Given the description of an element on the screen output the (x, y) to click on. 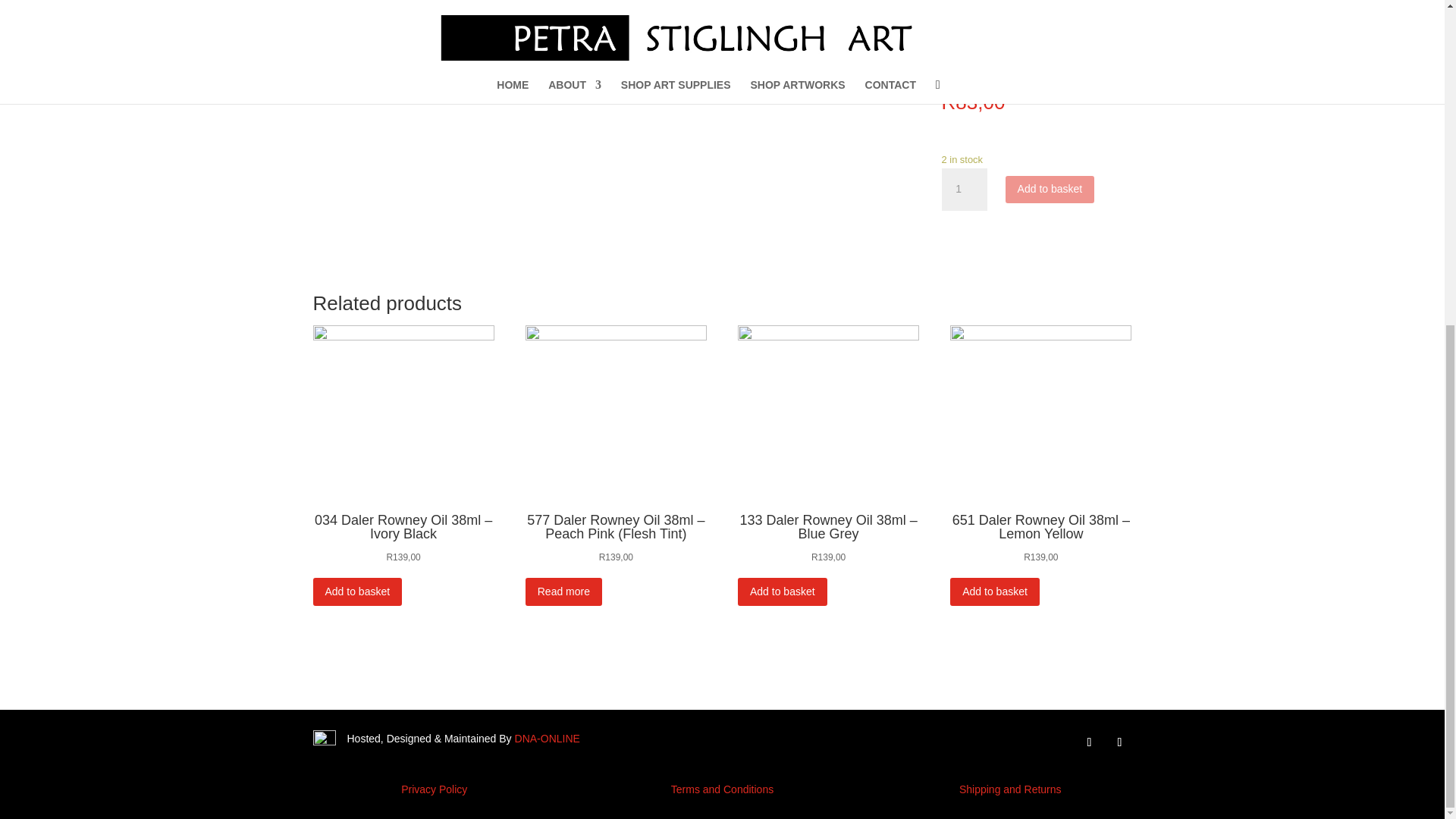
Add to basket (994, 591)
Follow on Instagram (1118, 741)
Add to basket (782, 591)
Follow on Facebook (1088, 741)
Add to basket (357, 591)
1 (964, 189)
Shipping and Returns (1010, 788)
Privacy Policy (434, 788)
Add to basket (1050, 189)
DNA-ONLINE (547, 738)
Read more (563, 591)
Terms and Conditions (722, 788)
